Given the description of an element on the screen output the (x, y) to click on. 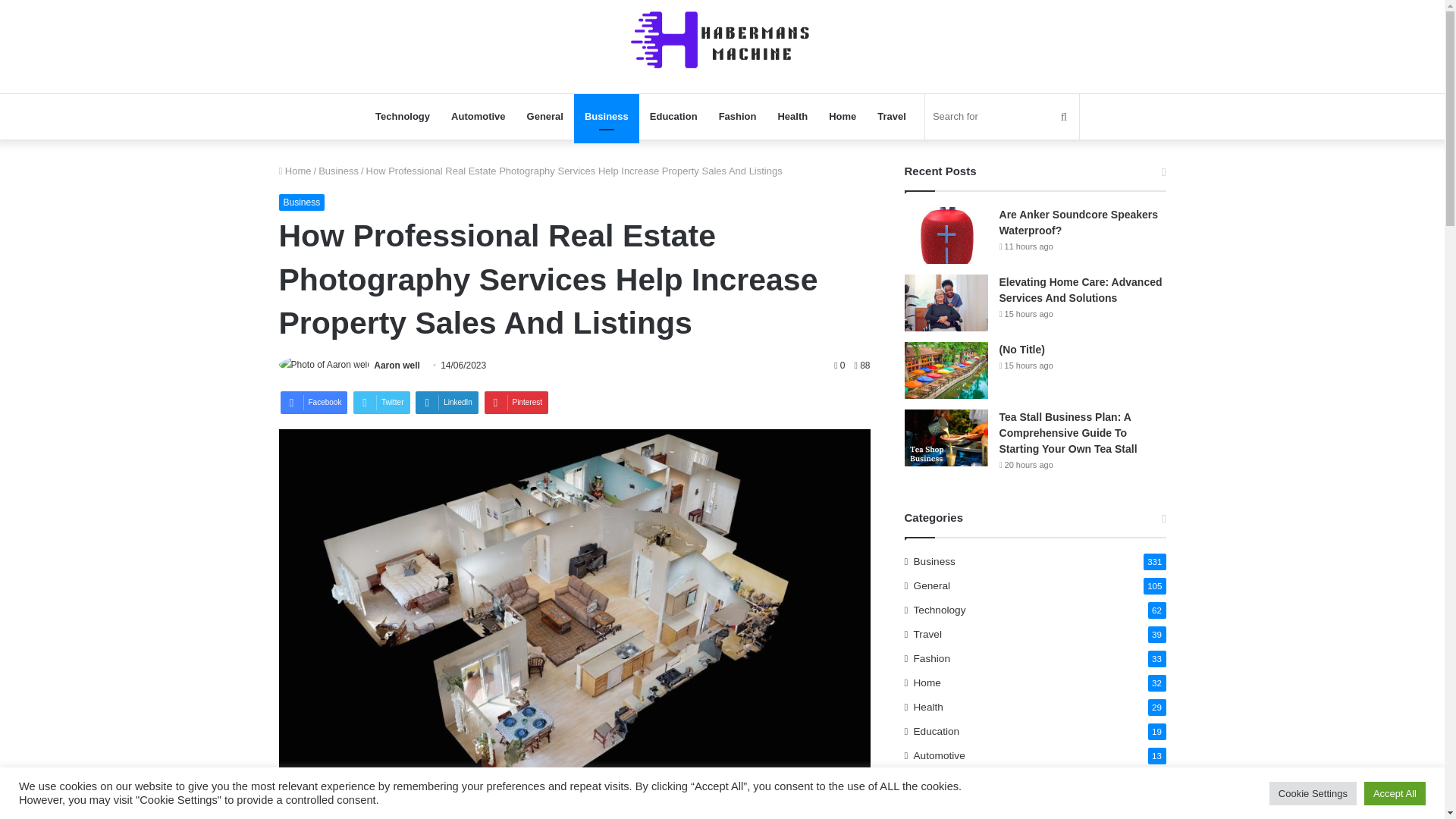
Facebook (314, 402)
Education (673, 116)
Aaron well (397, 365)
Aaron well (397, 365)
Business (606, 116)
Pinterest (516, 402)
Home (295, 170)
Fashion (737, 116)
Business (301, 202)
Technology (403, 116)
